Given the description of an element on the screen output the (x, y) to click on. 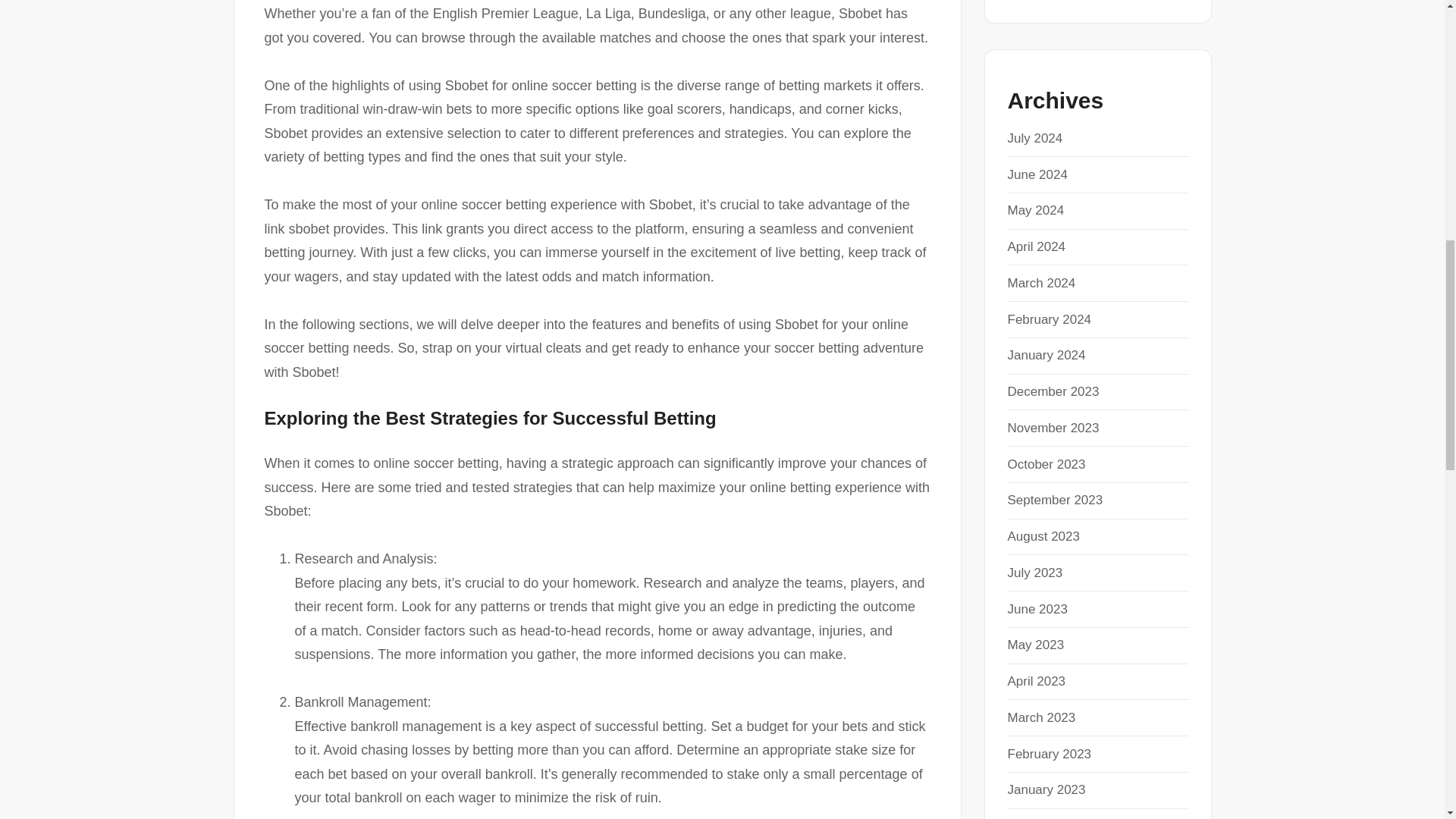
August 2023 (1042, 536)
May 2024 (1035, 210)
July 2024 (1034, 138)
May 2023 (1035, 644)
February 2023 (1048, 753)
June 2023 (1037, 608)
December 2023 (1053, 391)
March 2024 (1041, 283)
February 2024 (1048, 319)
July 2023 (1034, 572)
January 2024 (1045, 355)
April 2024 (1036, 246)
April 2023 (1036, 681)
June 2024 (1037, 174)
November 2023 (1053, 427)
